Given the description of an element on the screen output the (x, y) to click on. 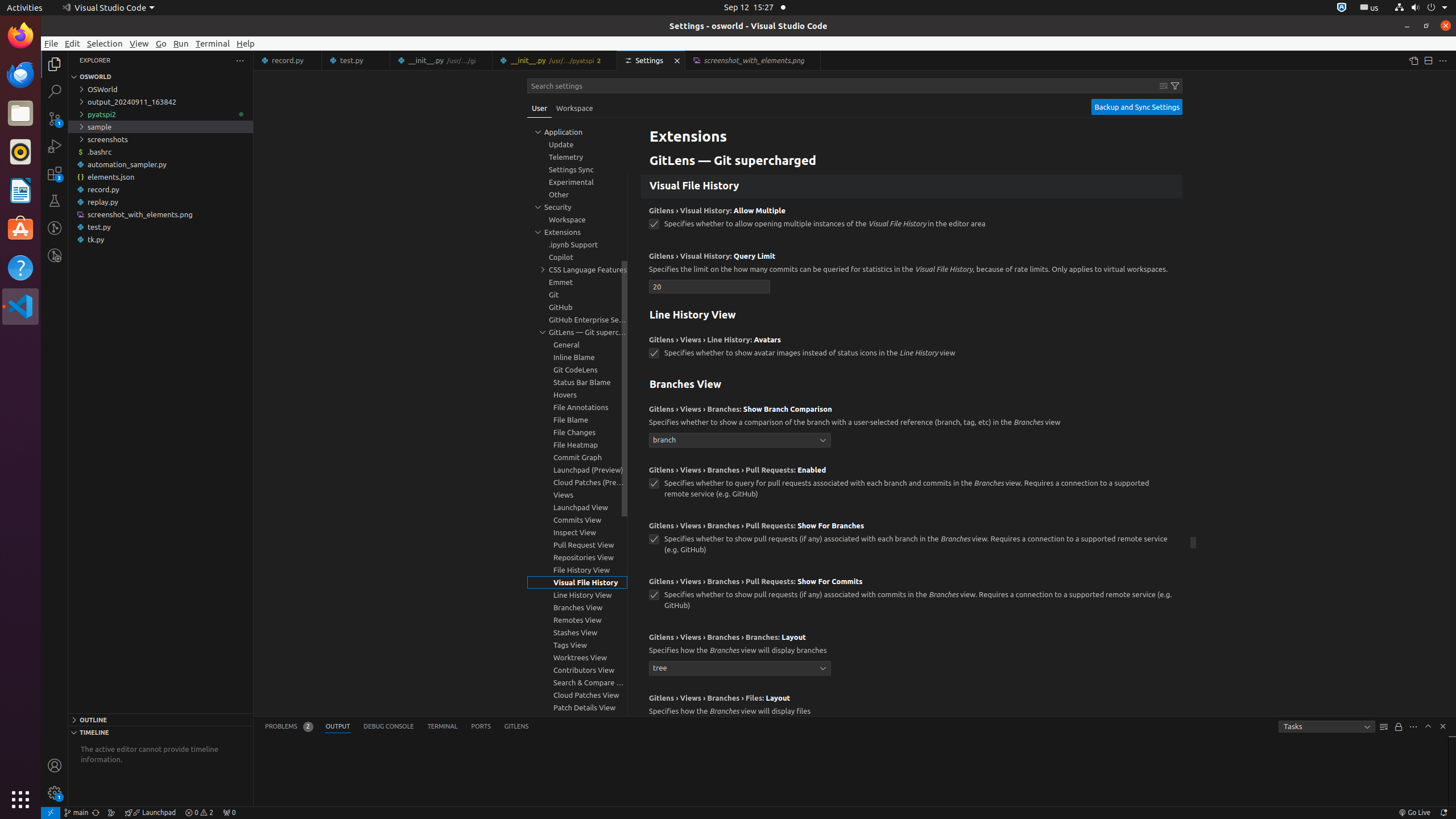
Commits View, group Element type: tree-item (577, 519)
record.py Element type: tree-item (160, 189)
Launchpad View, group Element type: tree-item (577, 507)
Search & Compare View, group Element type: tree-item (577, 682)
Tags View, group Element type: tree-item (577, 644)
